Given the description of an element on the screen output the (x, y) to click on. 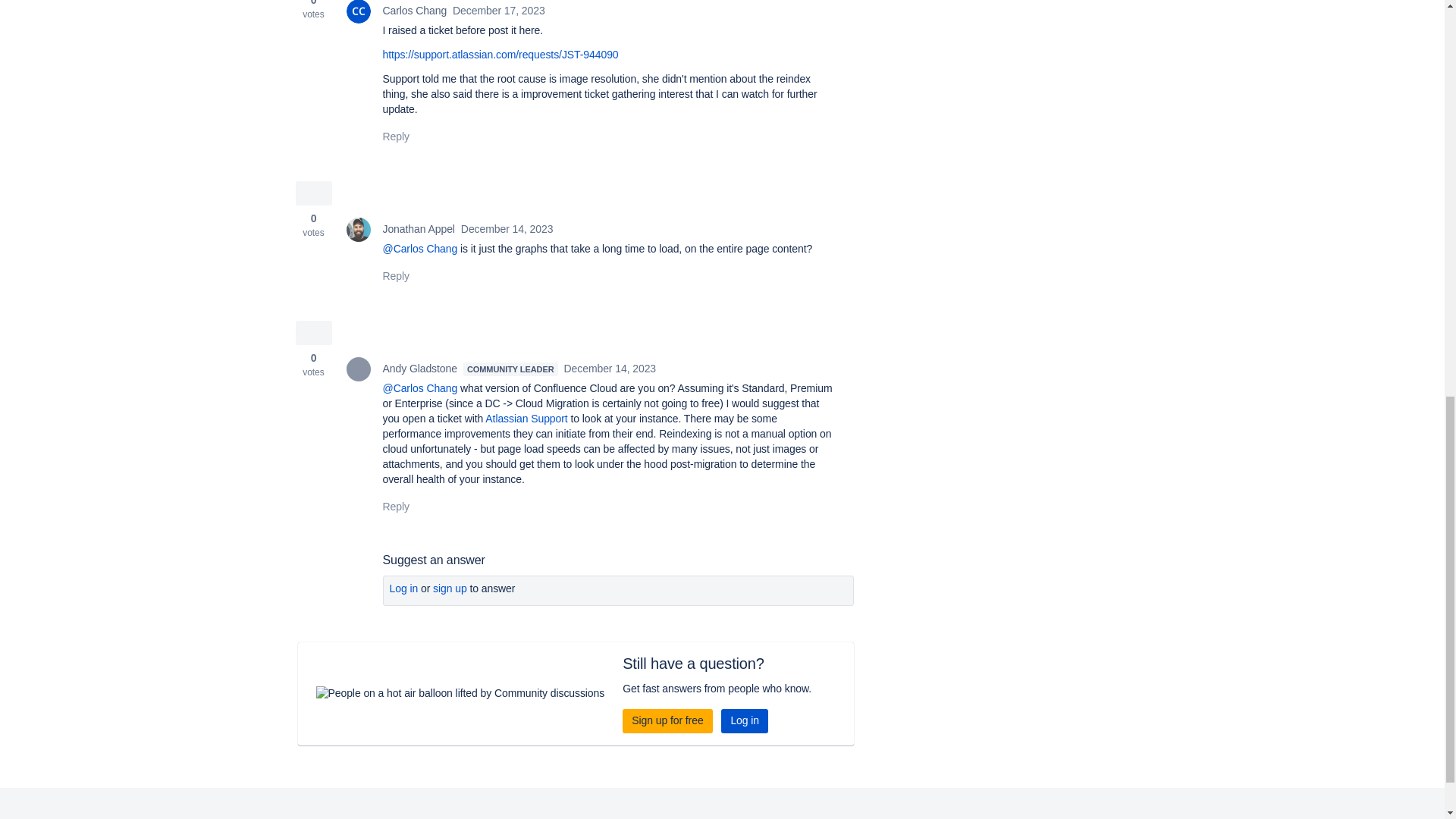
Jonathan Appel (357, 229)
Carlos Chang (357, 11)
Andy Gladstone (357, 369)
